Given the description of an element on the screen output the (x, y) to click on. 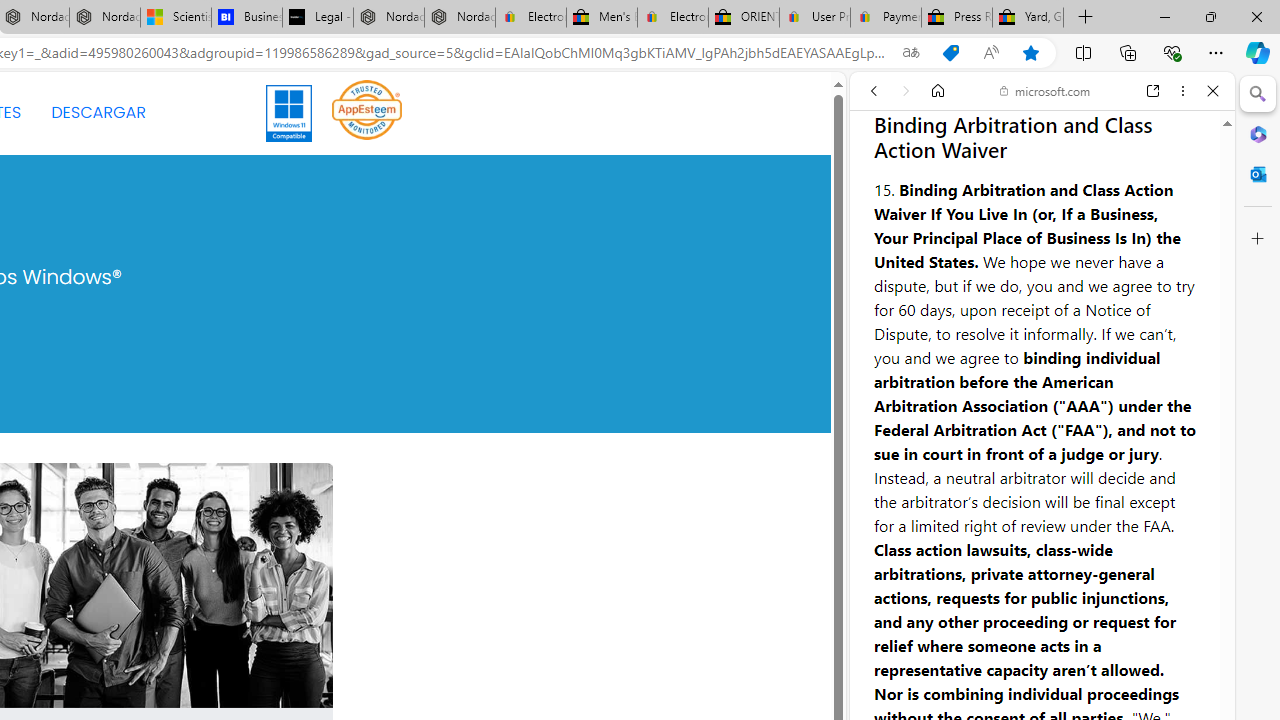
DESCARGAR (98, 112)
User Privacy Notice | eBay (814, 17)
microsoft.com (1045, 90)
App Esteem (367, 112)
App Esteem (367, 109)
Forward (906, 91)
Customize (1258, 239)
DESCARGAR (98, 112)
Shopping in Microsoft Edge (950, 53)
